Given the description of an element on the screen output the (x, y) to click on. 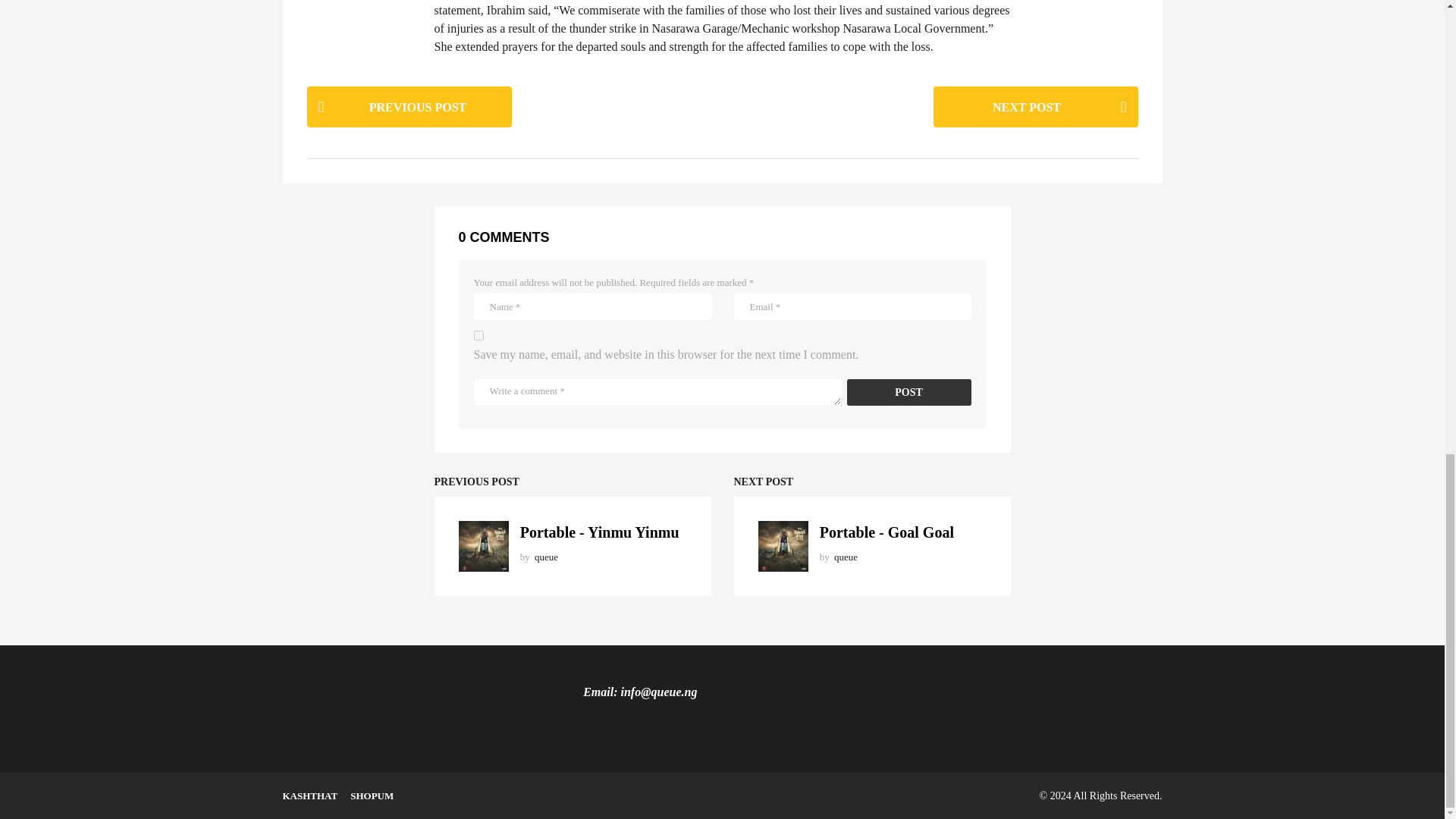
PREVIOUS POST (408, 106)
yes (478, 335)
Portable - Goal Goal (886, 532)
NEXT POST (1035, 106)
SHOPUM (371, 795)
Portable - Yinmu Yinmu (599, 532)
queue (545, 556)
queue (845, 556)
Post (908, 392)
Post (908, 392)
KASHTHAT (309, 795)
